Given the description of an element on the screen output the (x, y) to click on. 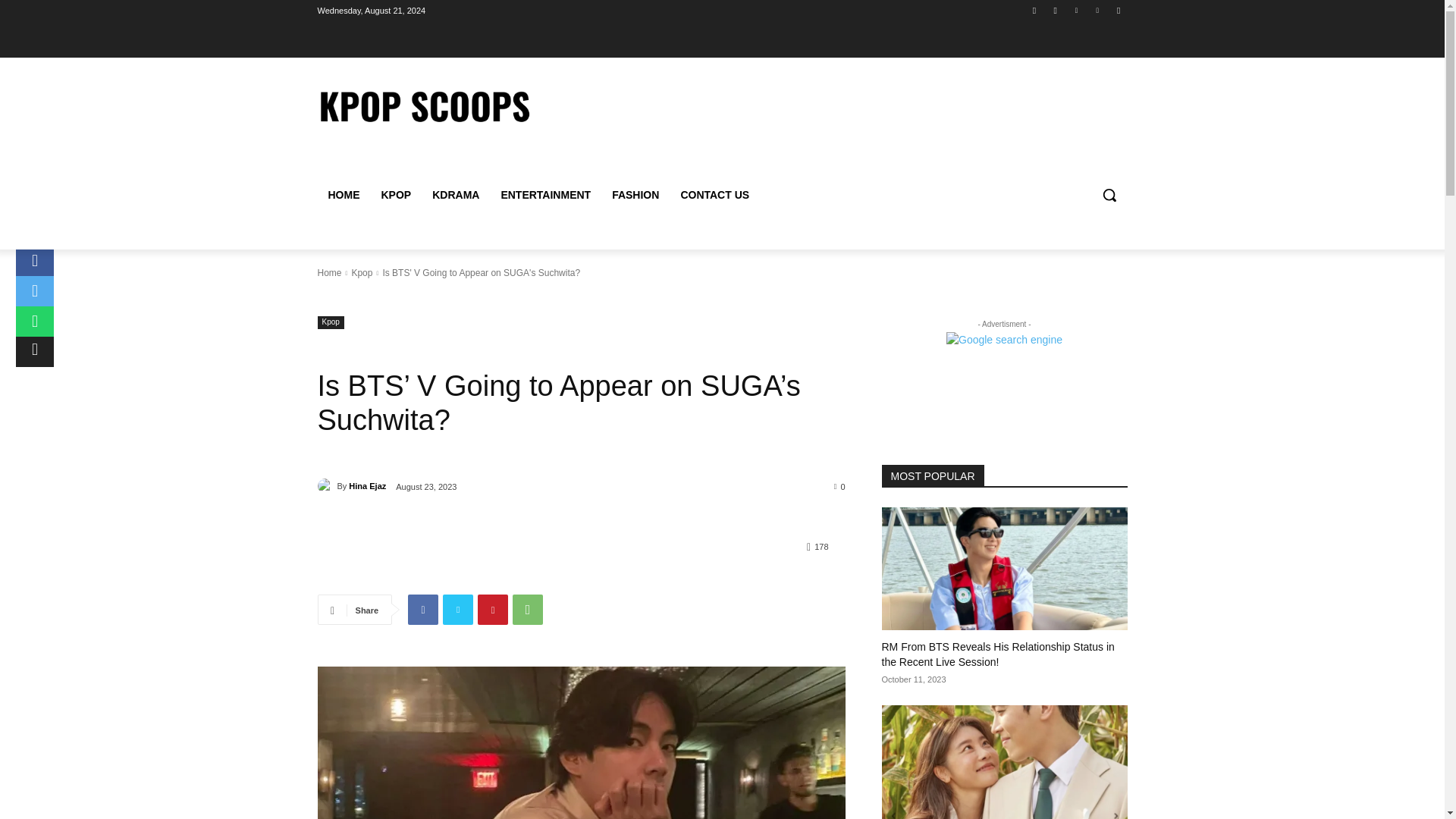
KDRAMA (455, 194)
HOME (343, 194)
KPOP (395, 194)
Kpop (361, 272)
Facebook (1034, 9)
Hina Ejaz (367, 486)
ENTERTAINMENT (545, 194)
FASHION (635, 194)
Instagram (1055, 9)
Kpop (330, 322)
